Given the description of an element on the screen output the (x, y) to click on. 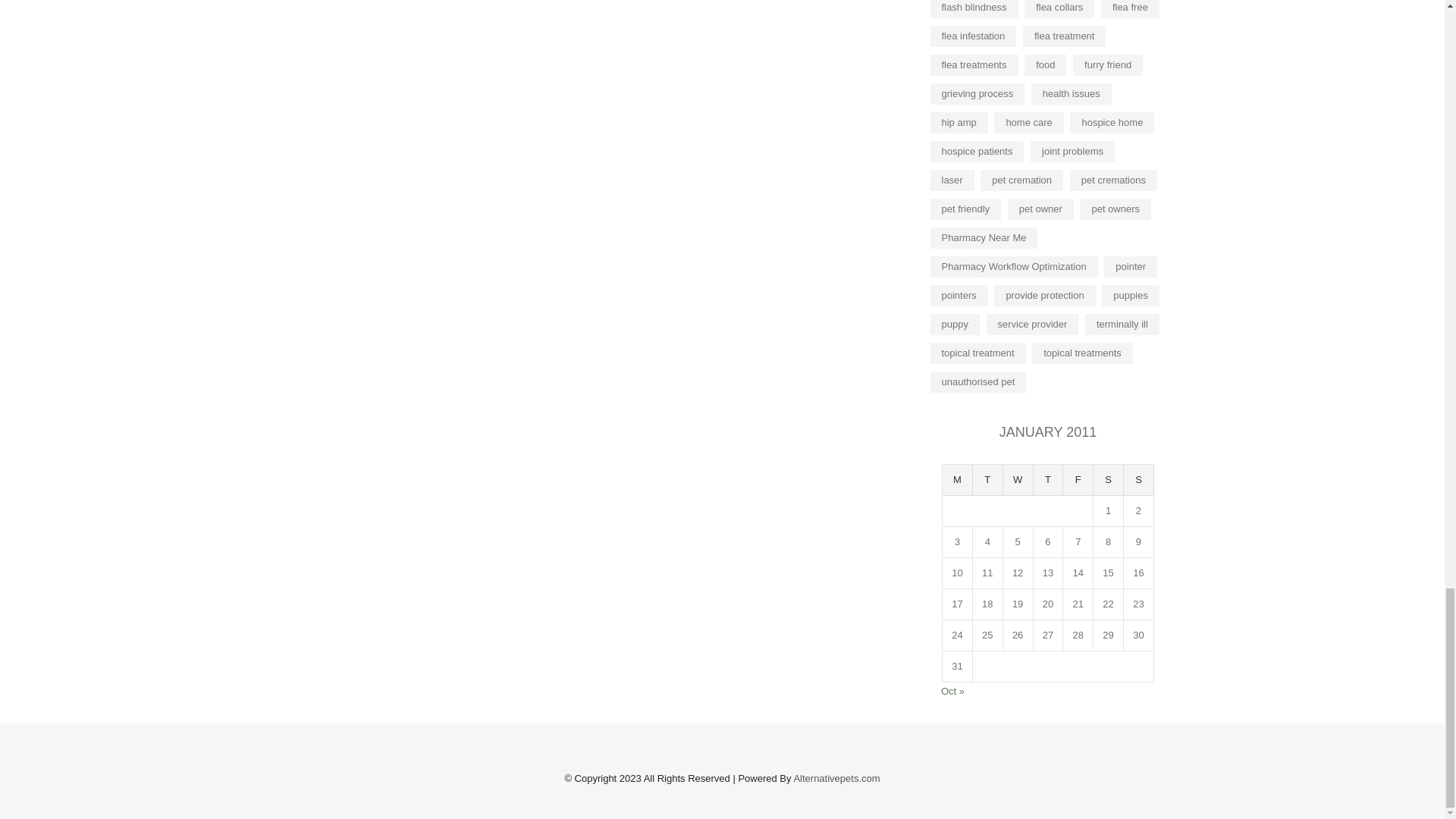
Thursday (1048, 480)
Saturday (1108, 480)
Tuesday (987, 480)
Friday (1077, 480)
Monday (957, 480)
Sunday (1139, 480)
Wednesday (1018, 480)
